Given the description of an element on the screen output the (x, y) to click on. 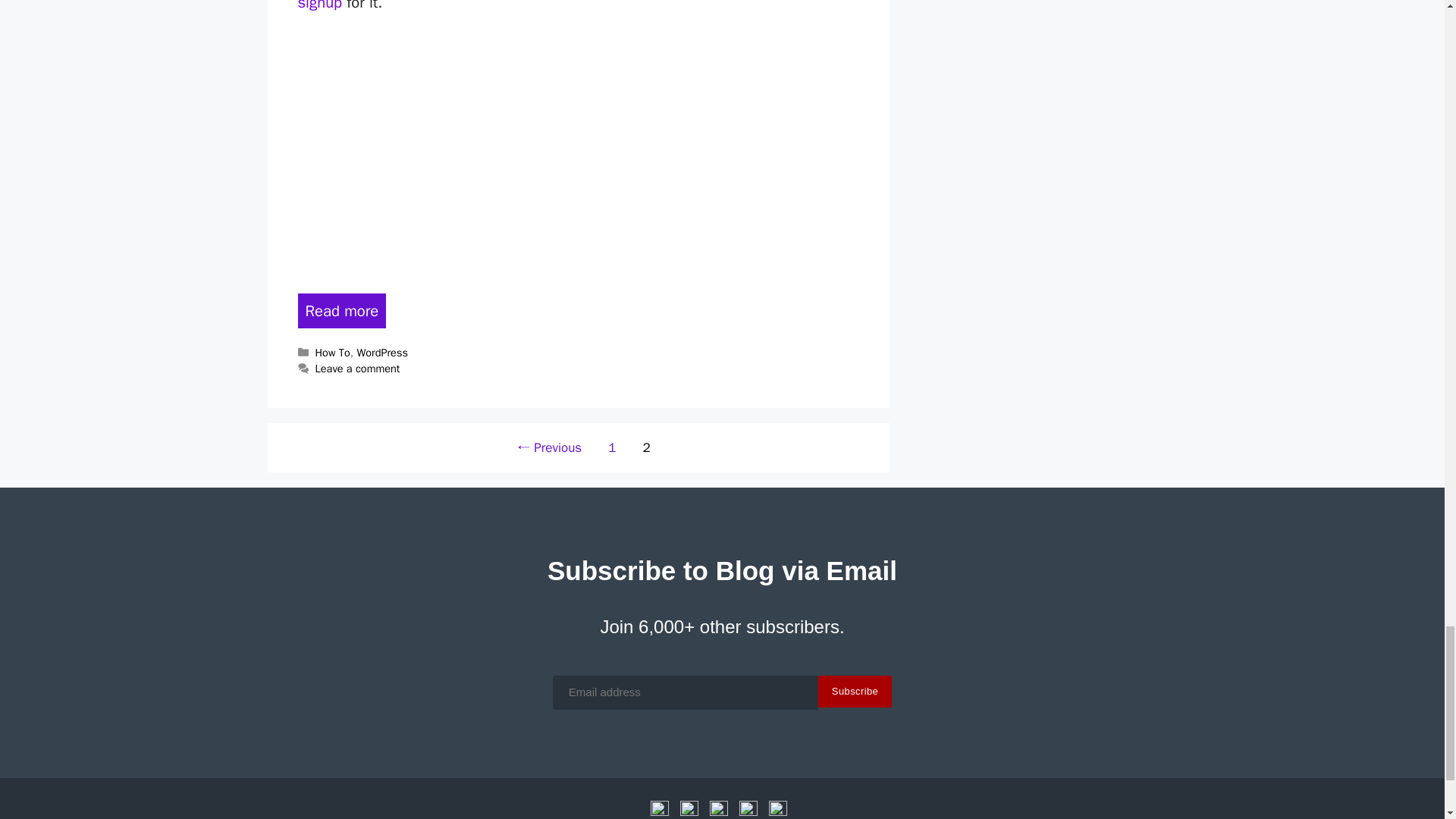
Subscribe (854, 691)
How to embed SlideShare Presentation in WordPress (341, 310)
